Given the description of an element on the screen output the (x, y) to click on. 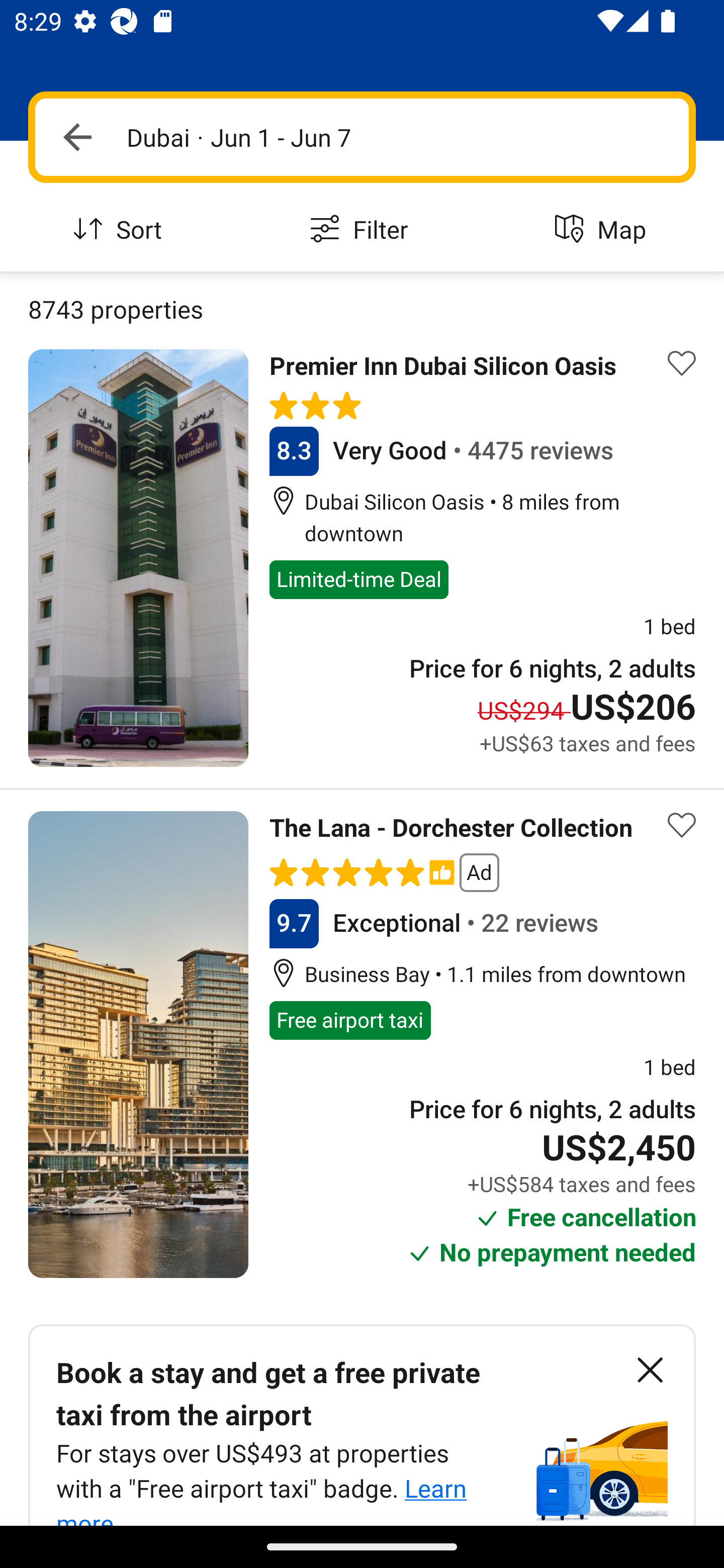
Navigate up Dubai · Jun 1 - Jun 7 (362, 136)
Navigate up (77, 136)
Sort (120, 230)
Filter (361, 230)
Map (603, 230)
Save property to list (681, 363)
Save property to list (681, 824)
Dismiss banner button (650, 1370)
